Given the description of an element on the screen output the (x, y) to click on. 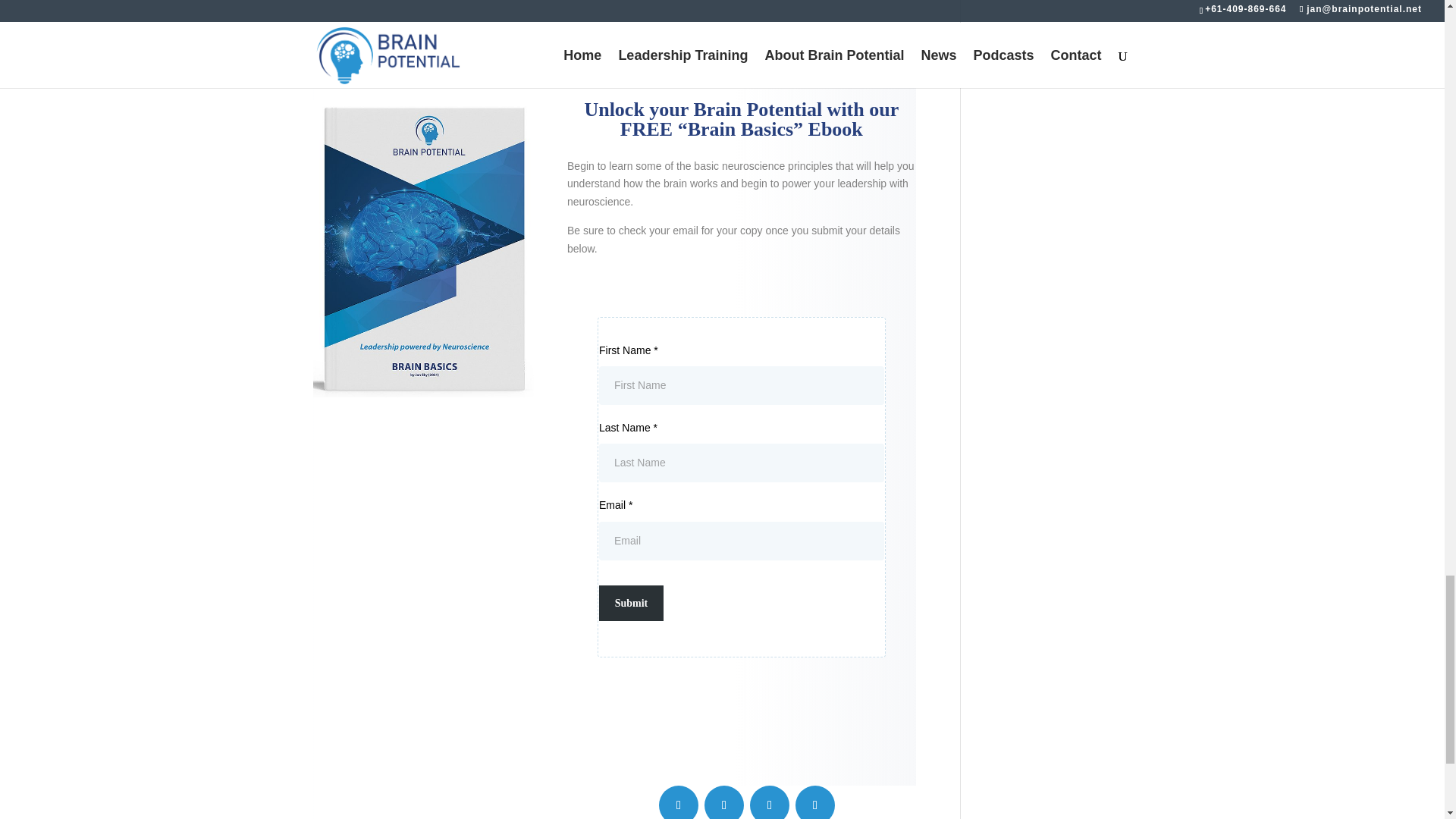
Follow on LinkedIn (724, 802)
Follow on Instagram (769, 802)
Follow on Youtube (814, 802)
Follow on Facebook (678, 802)
